Given the description of an element on the screen output the (x, y) to click on. 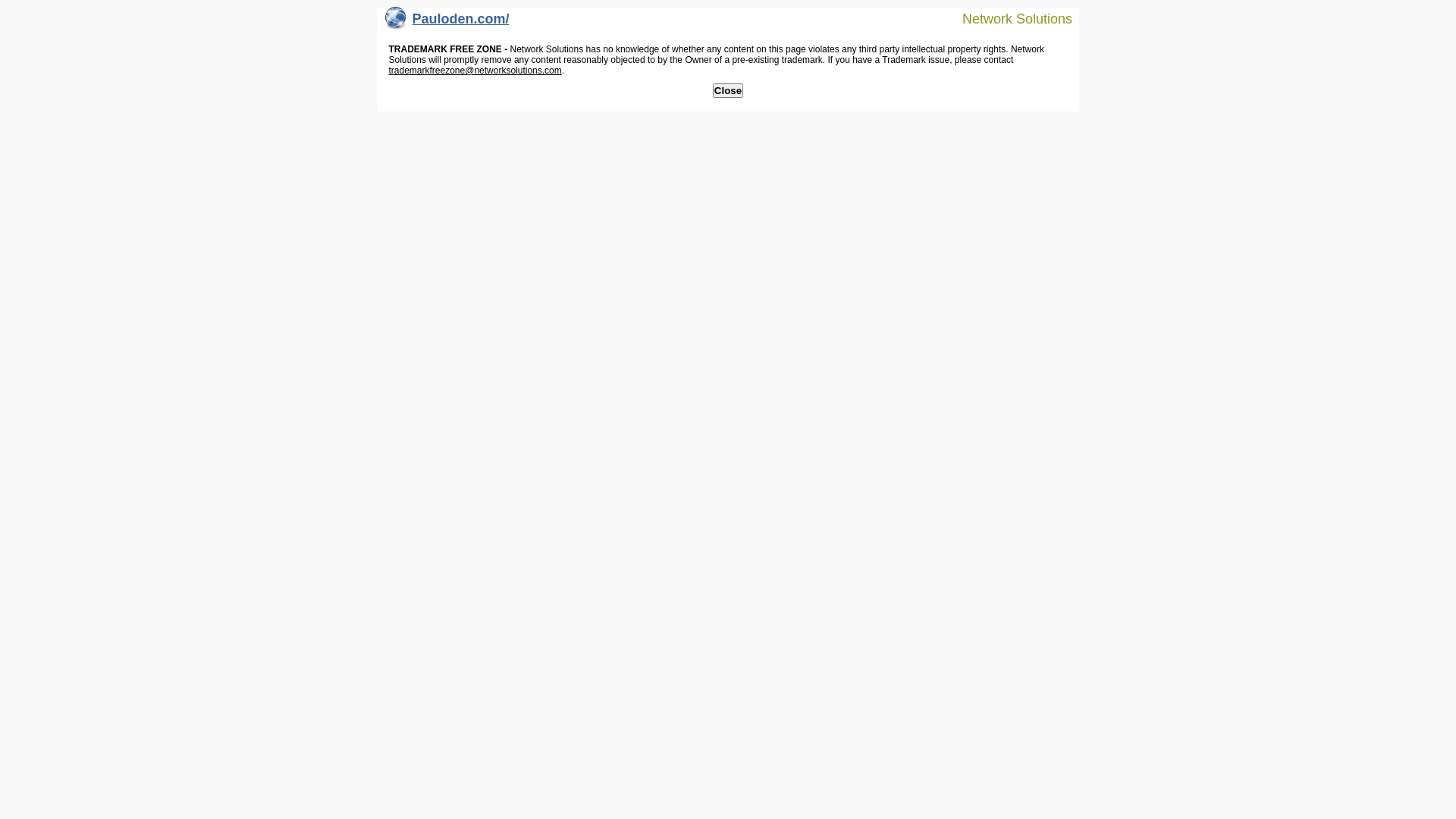
Pauloden.com/ Element type: text (447, 21)
Network Solutions Element type: text (1007, 17)
Close Element type: text (727, 90)
trademarkfreezone@networksolutions.com Element type: text (474, 70)
